Given the description of an element on the screen output the (x, y) to click on. 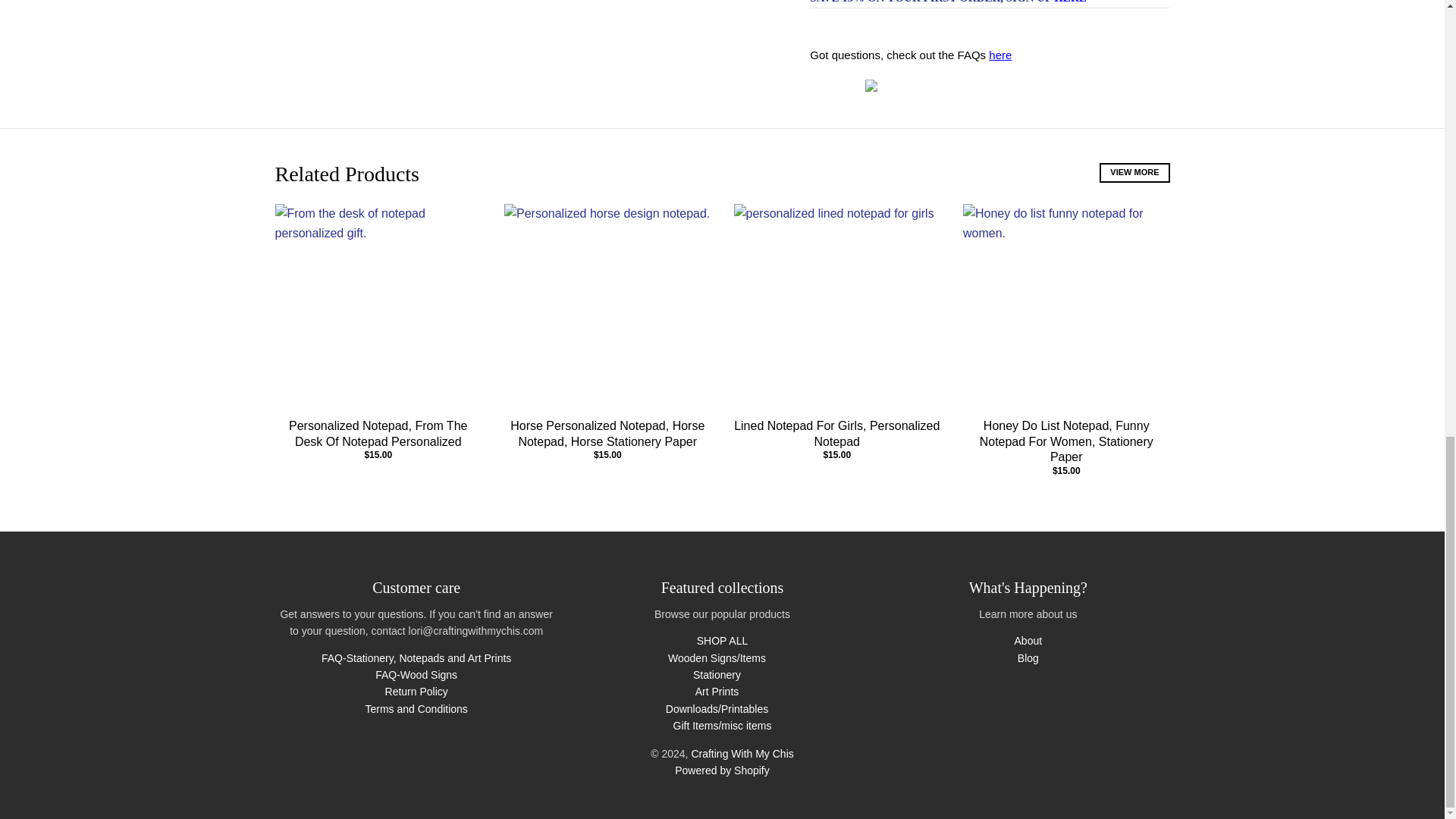
Personalized Stationery, Notepads and Art Prints FAQs (999, 54)
